Given the description of an element on the screen output the (x, y) to click on. 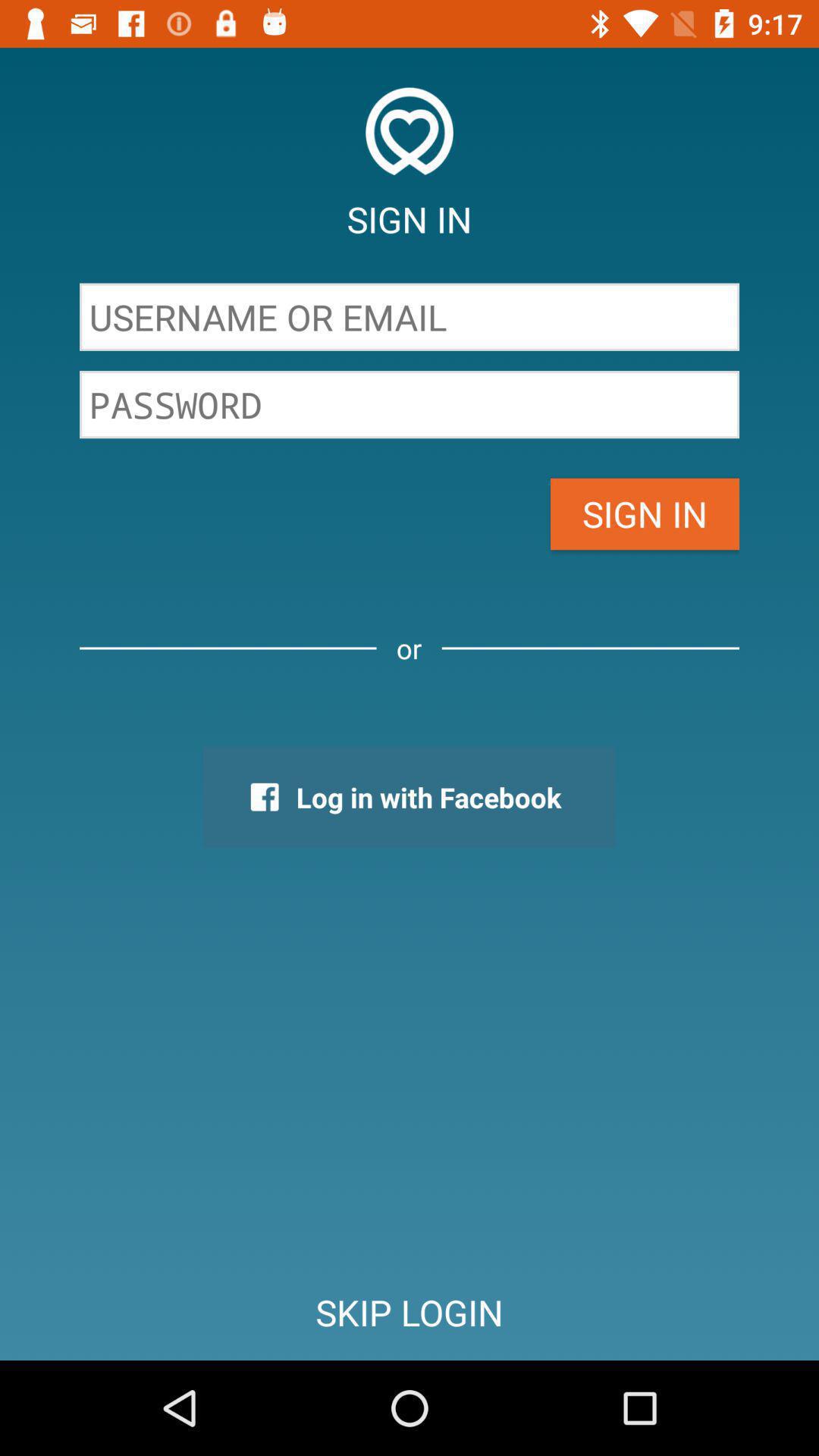
enter username or email (409, 316)
